Given the description of an element on the screen output the (x, y) to click on. 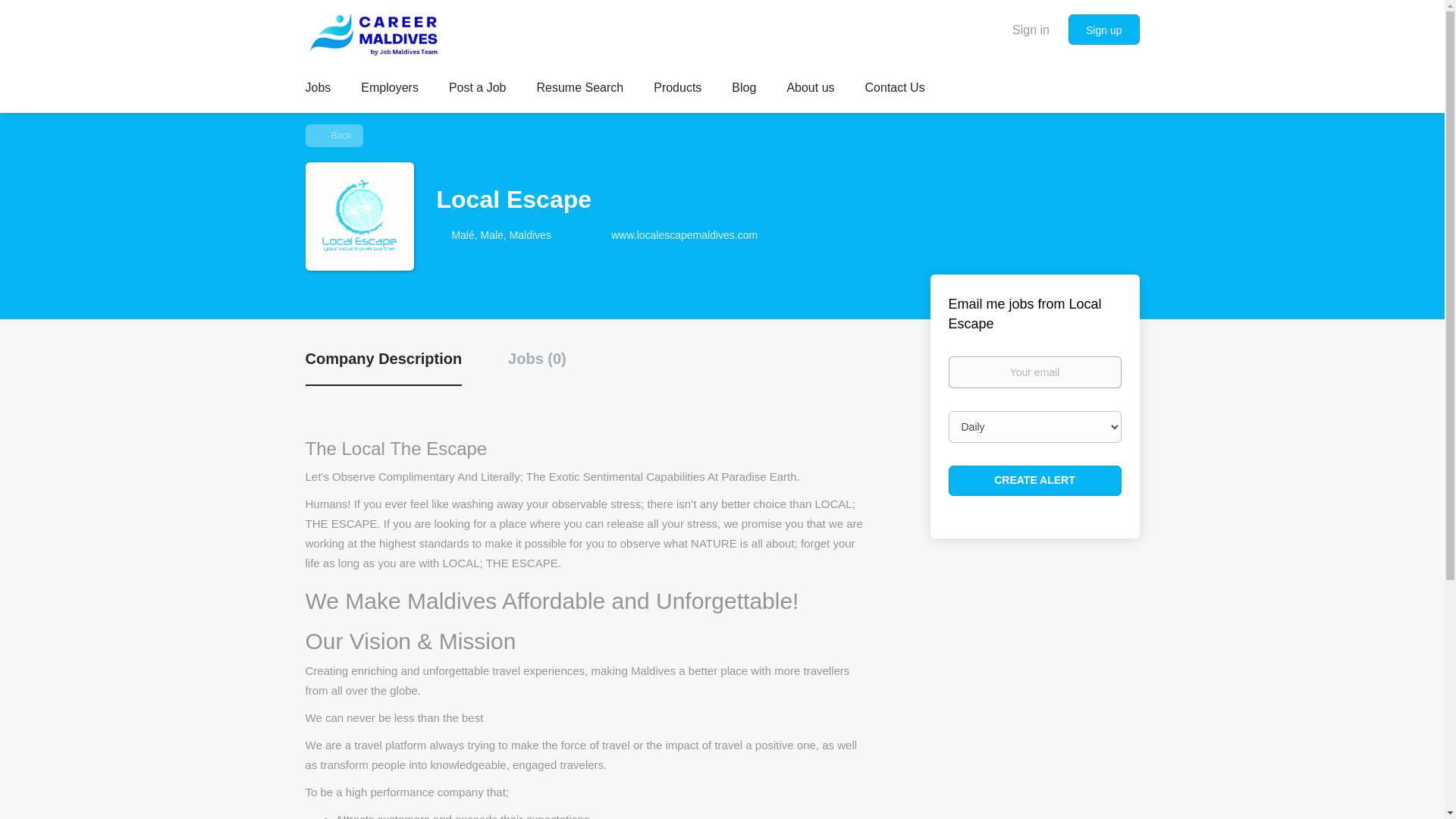
Back (333, 135)
Products (677, 89)
Employers (390, 89)
Sign in (1031, 28)
Post a Job (477, 89)
Create alert (1034, 481)
Jobs (317, 89)
Sign up (1103, 29)
Resume Search (579, 89)
Create alert (1034, 481)
